Given the description of an element on the screen output the (x, y) to click on. 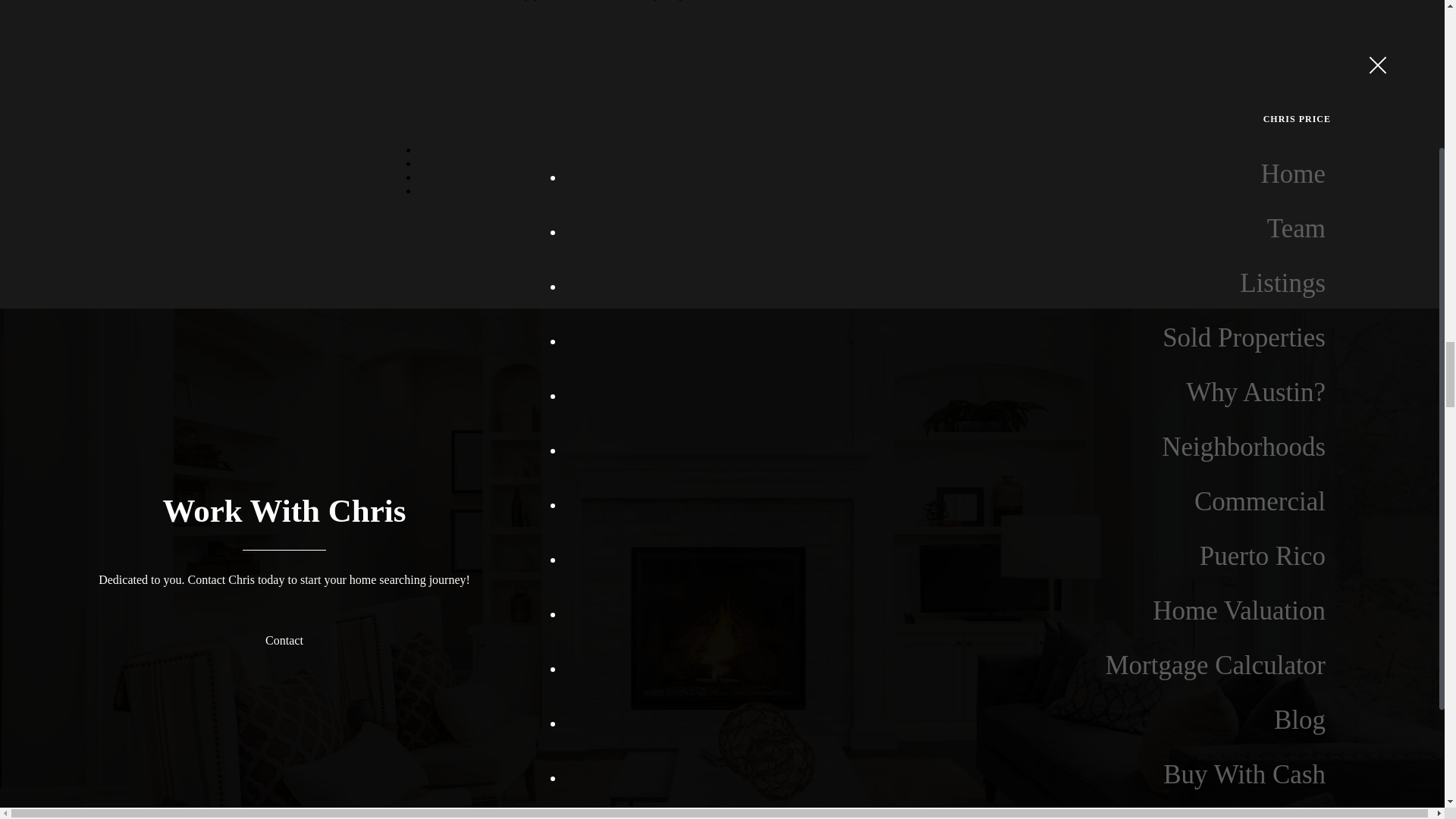
Contact (283, 640)
